Given the description of an element on the screen output the (x, y) to click on. 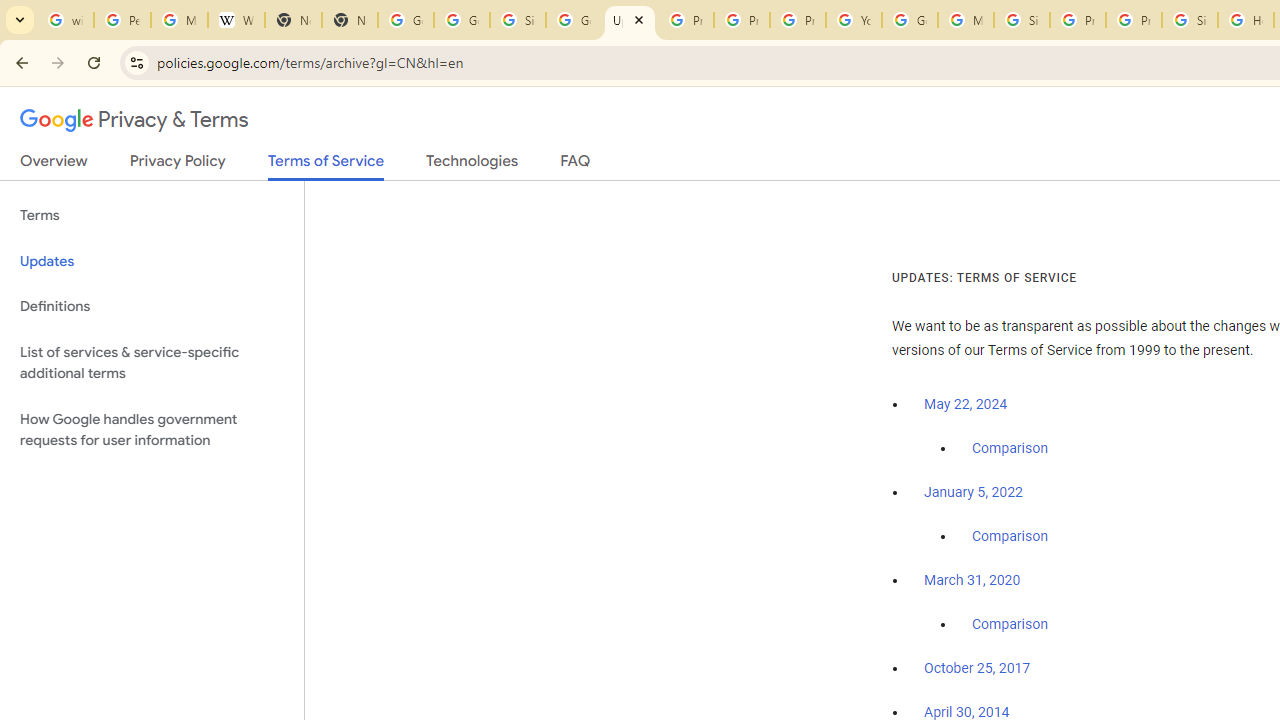
Google Account Help (909, 20)
March 31, 2020 (972, 580)
October 25, 2017 (977, 669)
YouTube (853, 20)
